Given the description of an element on the screen output the (x, y) to click on. 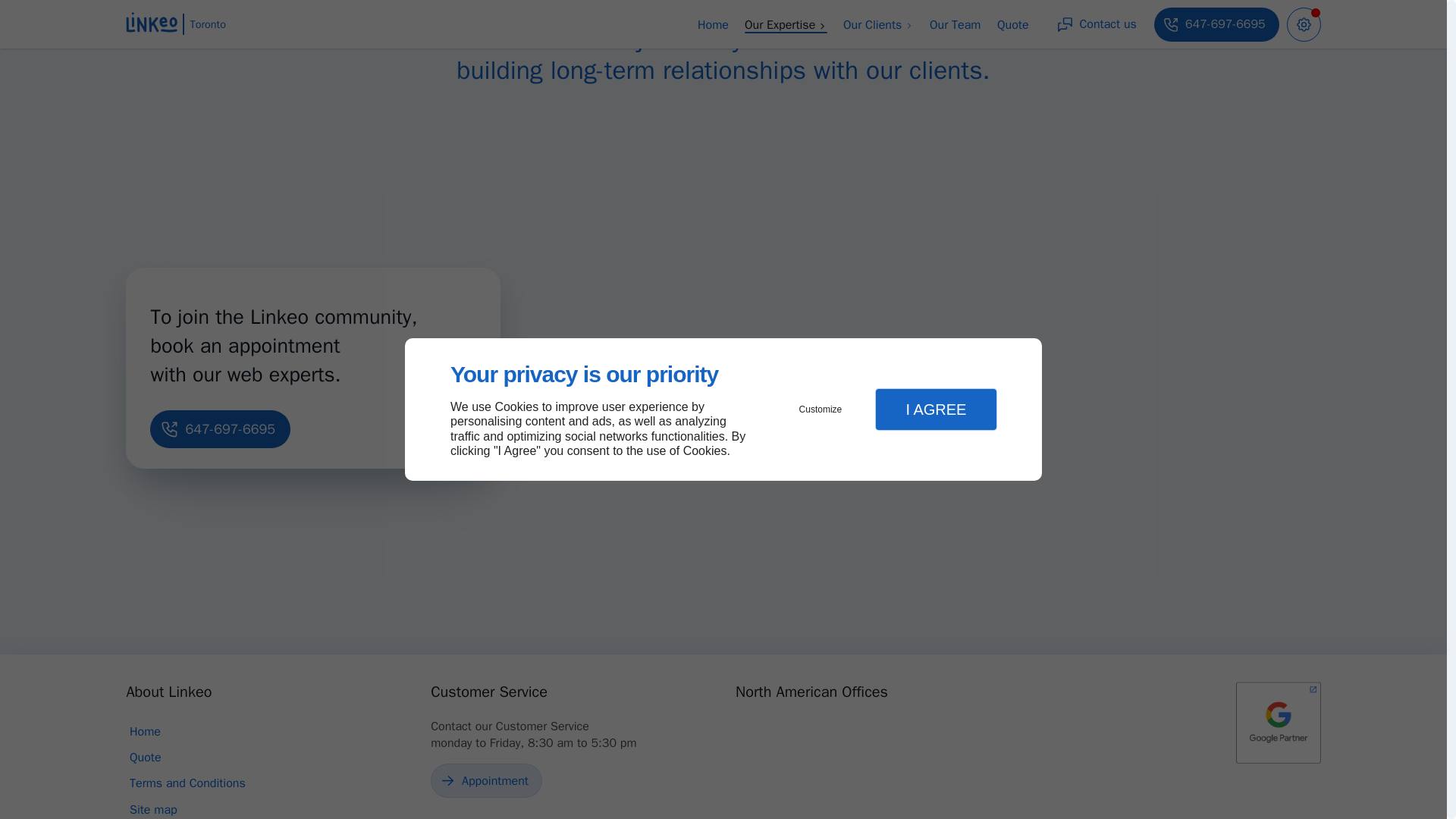
Appointment (485, 780)
647-697-6695 (219, 429)
Home (144, 730)
Site map (153, 807)
Terms and Conditions (187, 782)
Quote (145, 756)
